Given the description of an element on the screen output the (x, y) to click on. 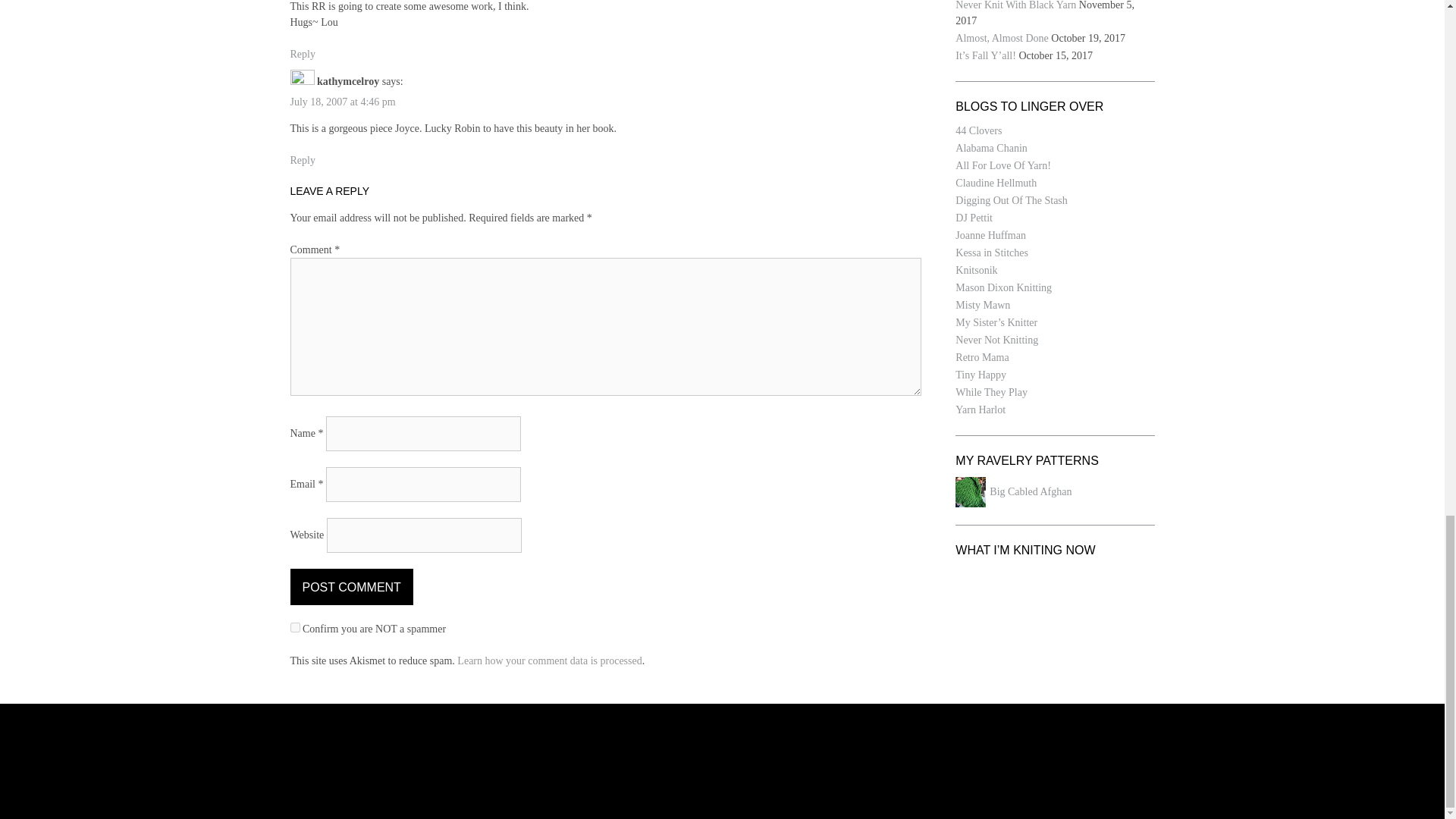
July 18, 2007 at 4:46 pm (341, 101)
Reply (301, 160)
on (294, 627)
Reply (301, 53)
Post Comment (350, 586)
Post Comment (350, 586)
